Given the description of an element on the screen output the (x, y) to click on. 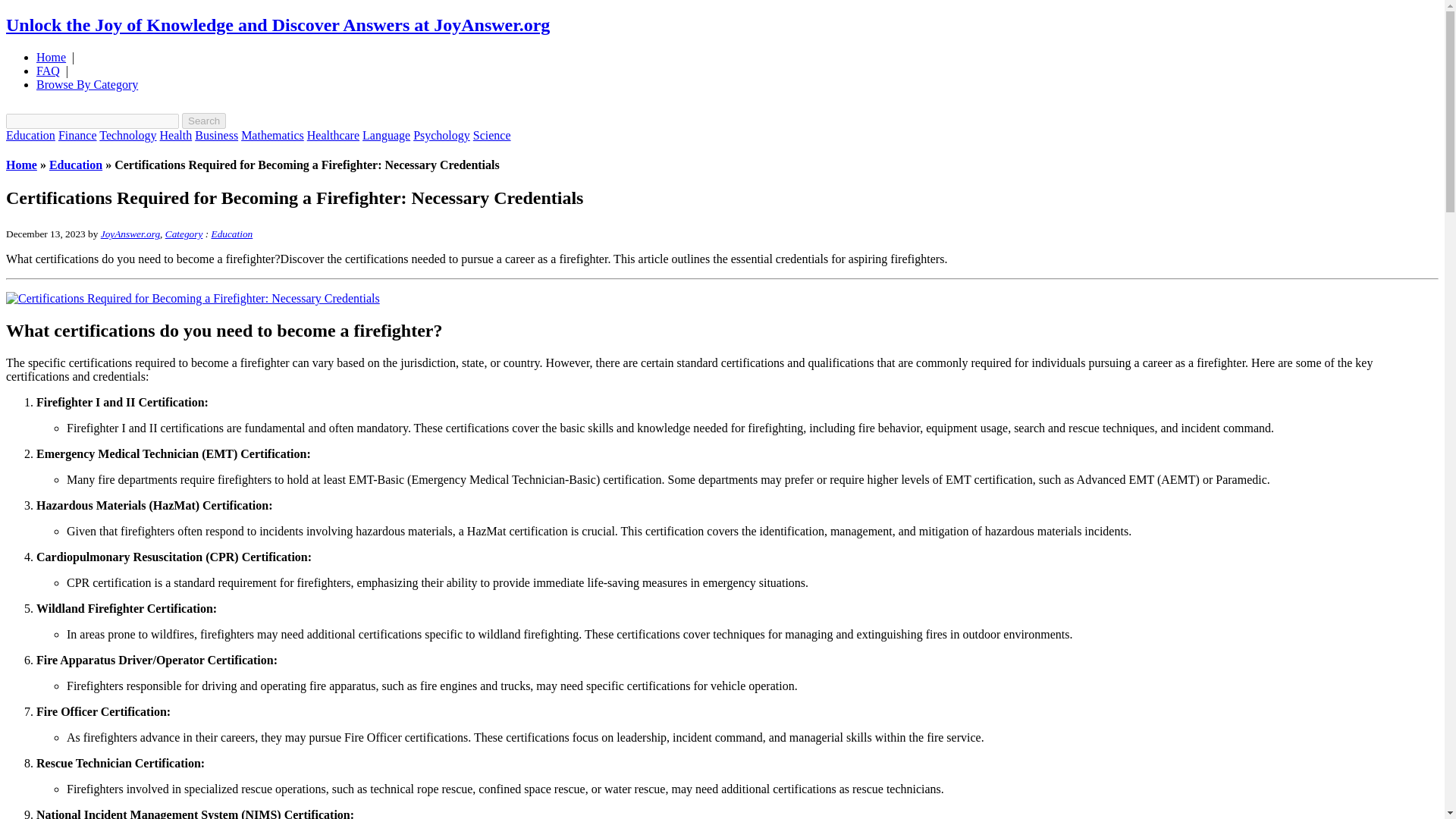
Home (21, 164)
Technology (127, 134)
Language (386, 134)
Business (216, 134)
Education (231, 233)
Category (184, 233)
FAQ (47, 70)
Healthcare (333, 134)
Browse By Category (87, 83)
Education (30, 134)
